Given the description of an element on the screen output the (x, y) to click on. 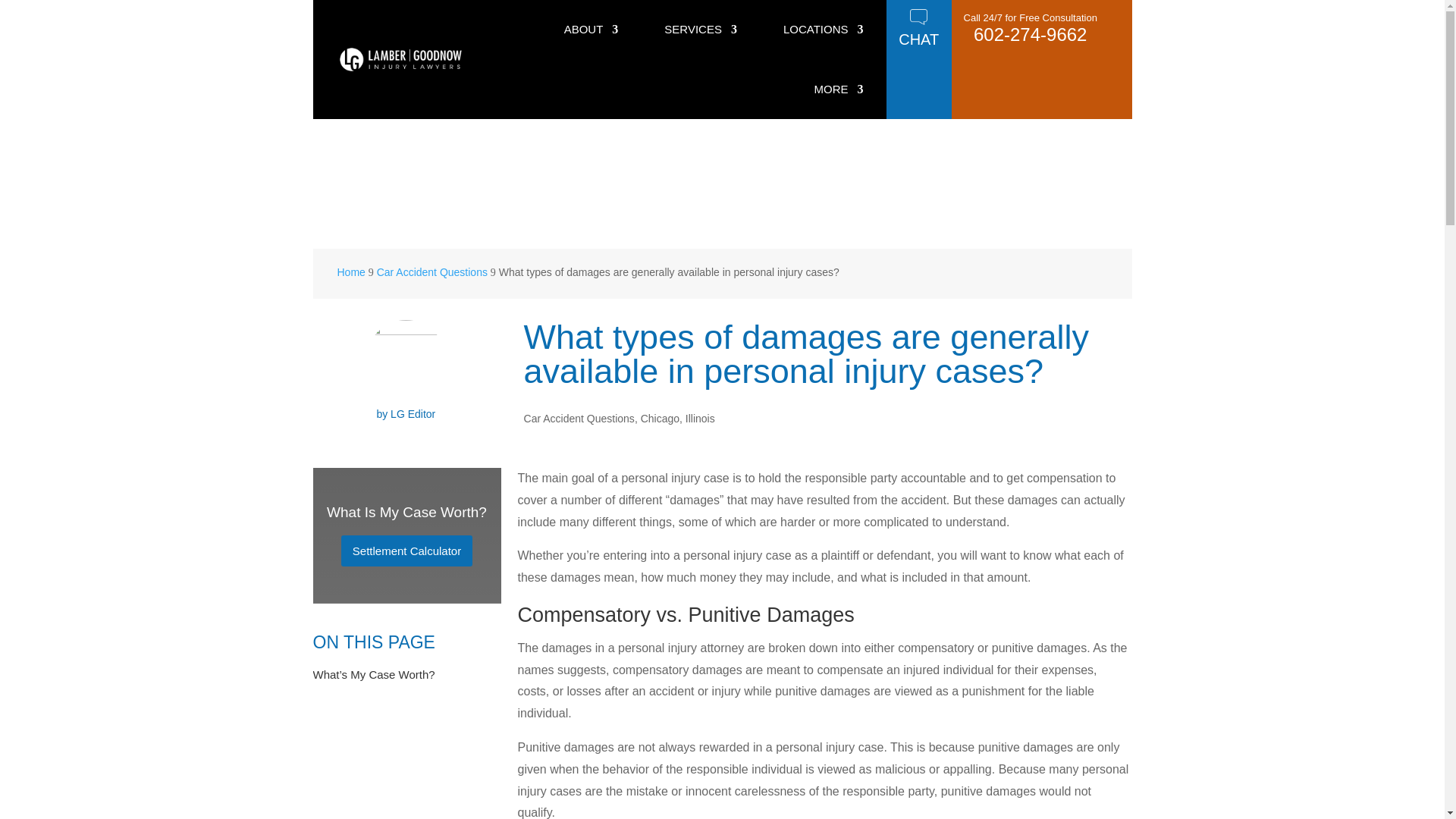
SERVICES (699, 29)
portrait-square-10 (405, 359)
Posts by LG Editor (412, 413)
ABOUT (591, 29)
